Given the description of an element on the screen output the (x, y) to click on. 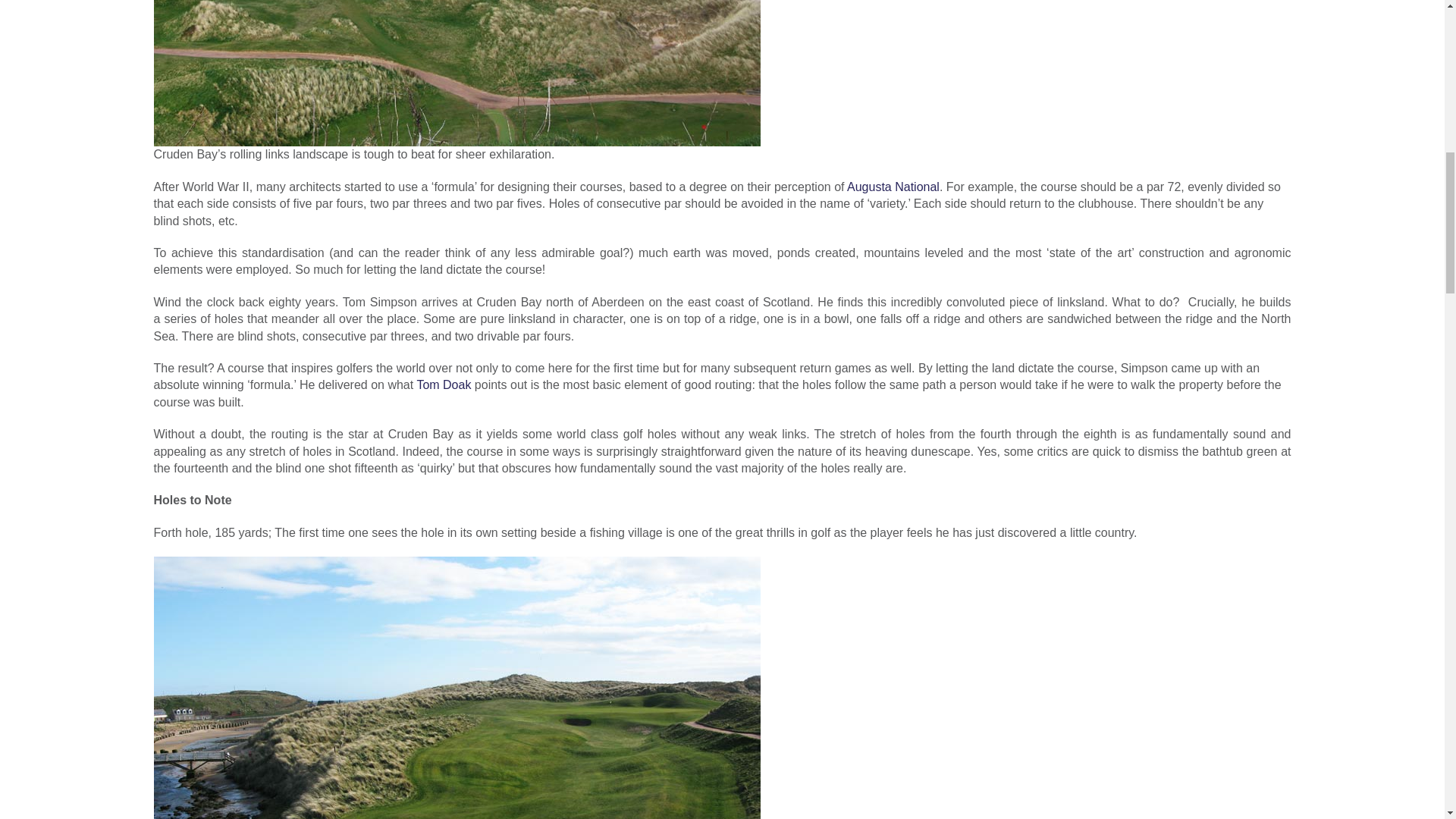
Augusta National (893, 186)
Tom Doak (445, 384)
cruden16 (456, 73)
